Given the description of an element on the screen output the (x, y) to click on. 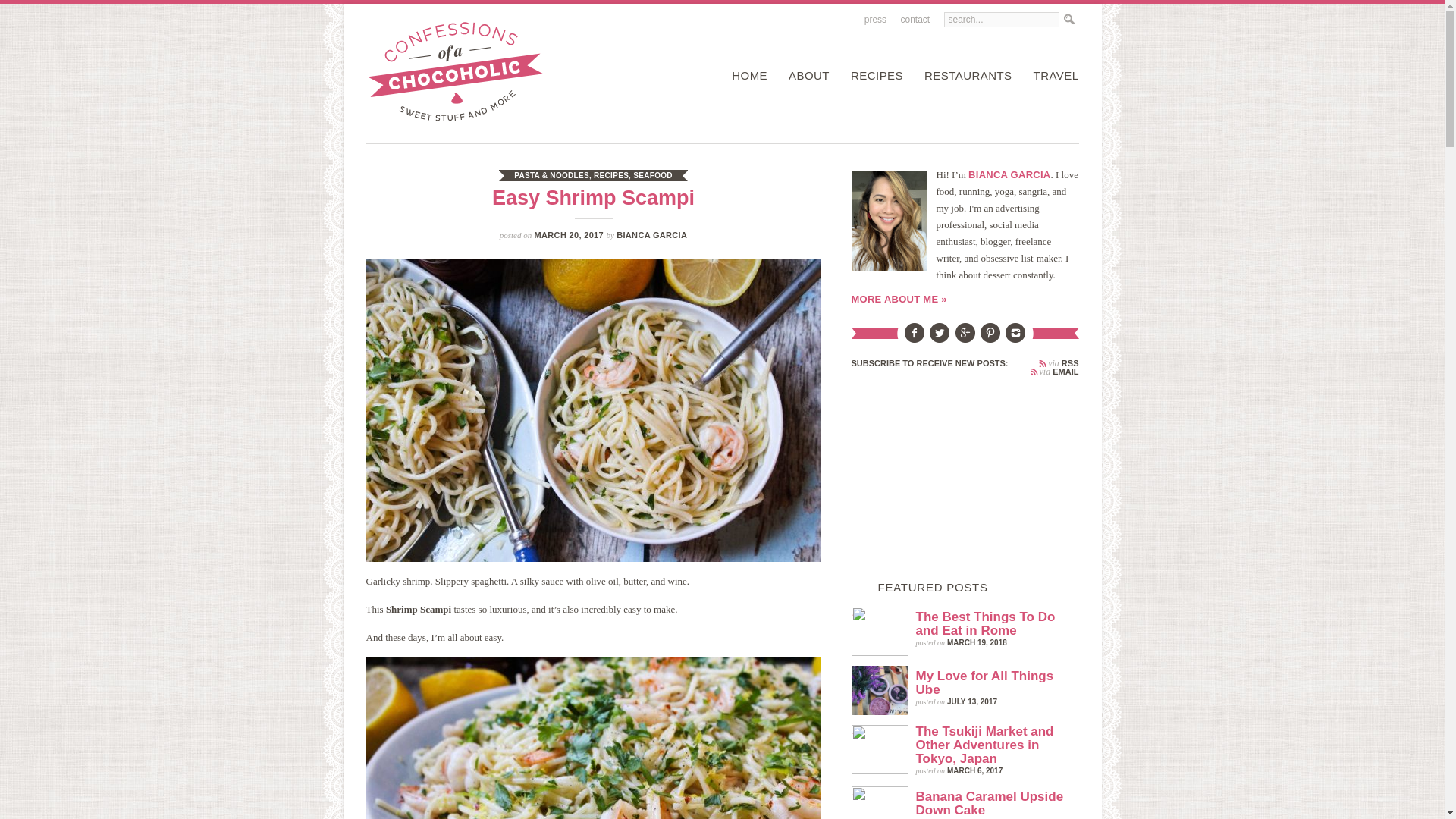
RSS (1058, 363)
SEAFOOD (652, 175)
press (875, 19)
TRAVEL (1052, 75)
Email (1054, 371)
Twitter (939, 338)
HOME (745, 75)
Pinterest (989, 338)
contact (914, 19)
search... (1000, 19)
